Given the description of an element on the screen output the (x, y) to click on. 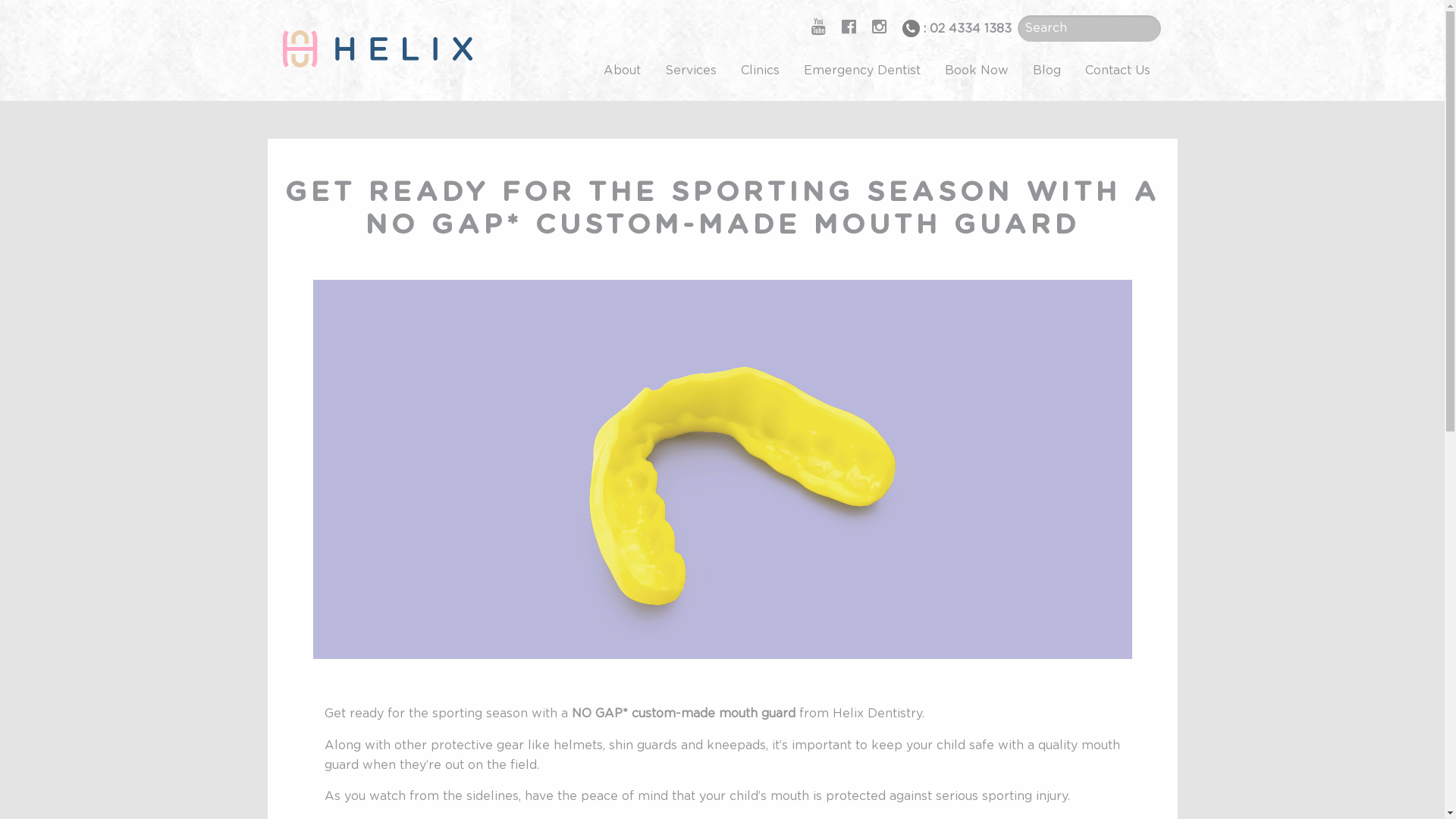
Clinics Element type: text (759, 70)
Contact Us Element type: text (1116, 70)
02 4334 1383 Element type: text (970, 28)
About Element type: text (621, 70)
Emergency Dentist Element type: text (861, 70)
Mouthguards Element type: hover (721, 468)
Search Element type: text (32, 12)
Blog Element type: text (1046, 70)
Book Now Element type: text (976, 70)
Services Element type: text (690, 70)
